Given the description of an element on the screen output the (x, y) to click on. 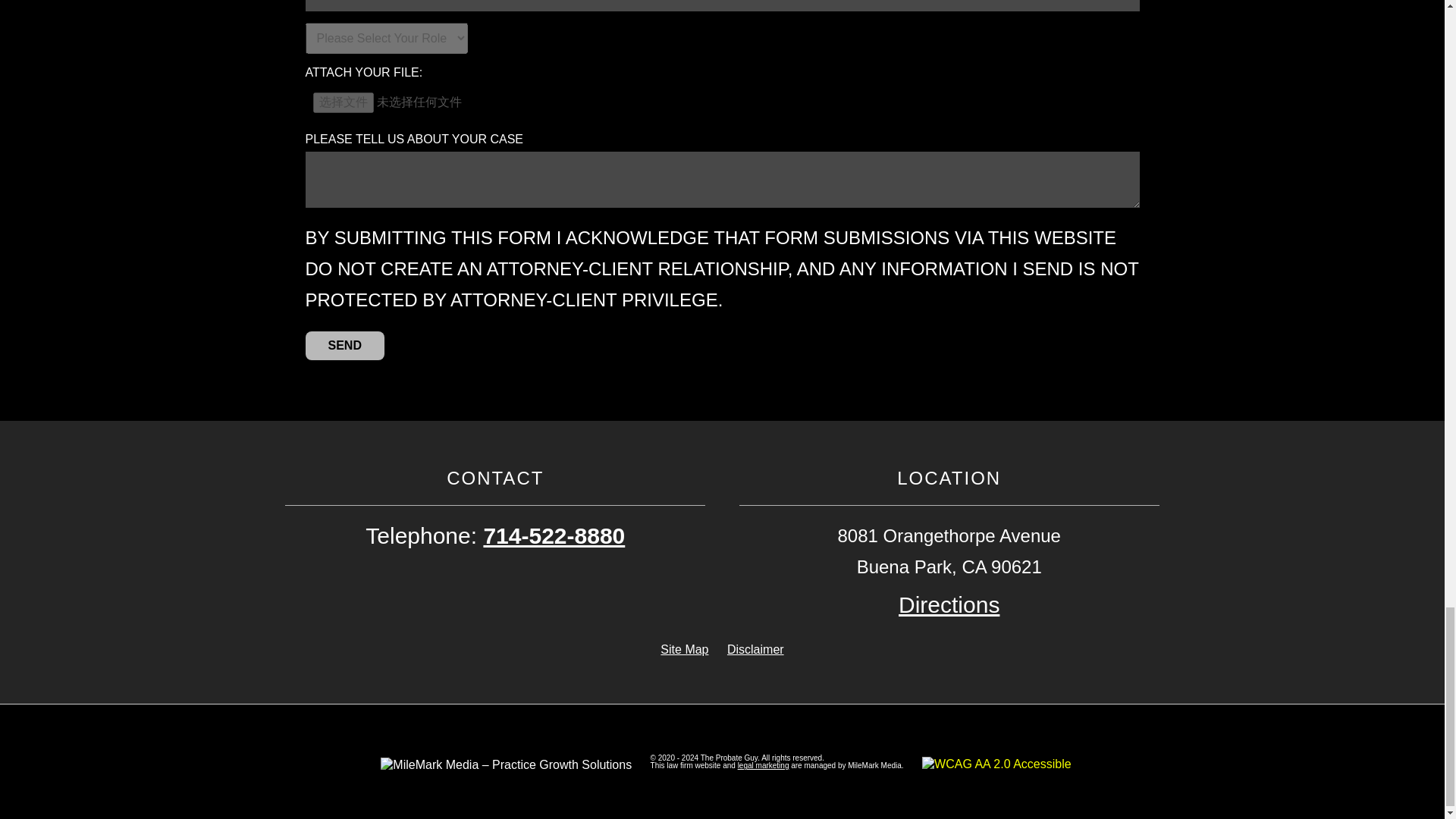
Open Google Map in a New Window (948, 604)
Send (344, 345)
Open MileMarkMedia.com in a New Window (763, 765)
